Given the description of an element on the screen output the (x, y) to click on. 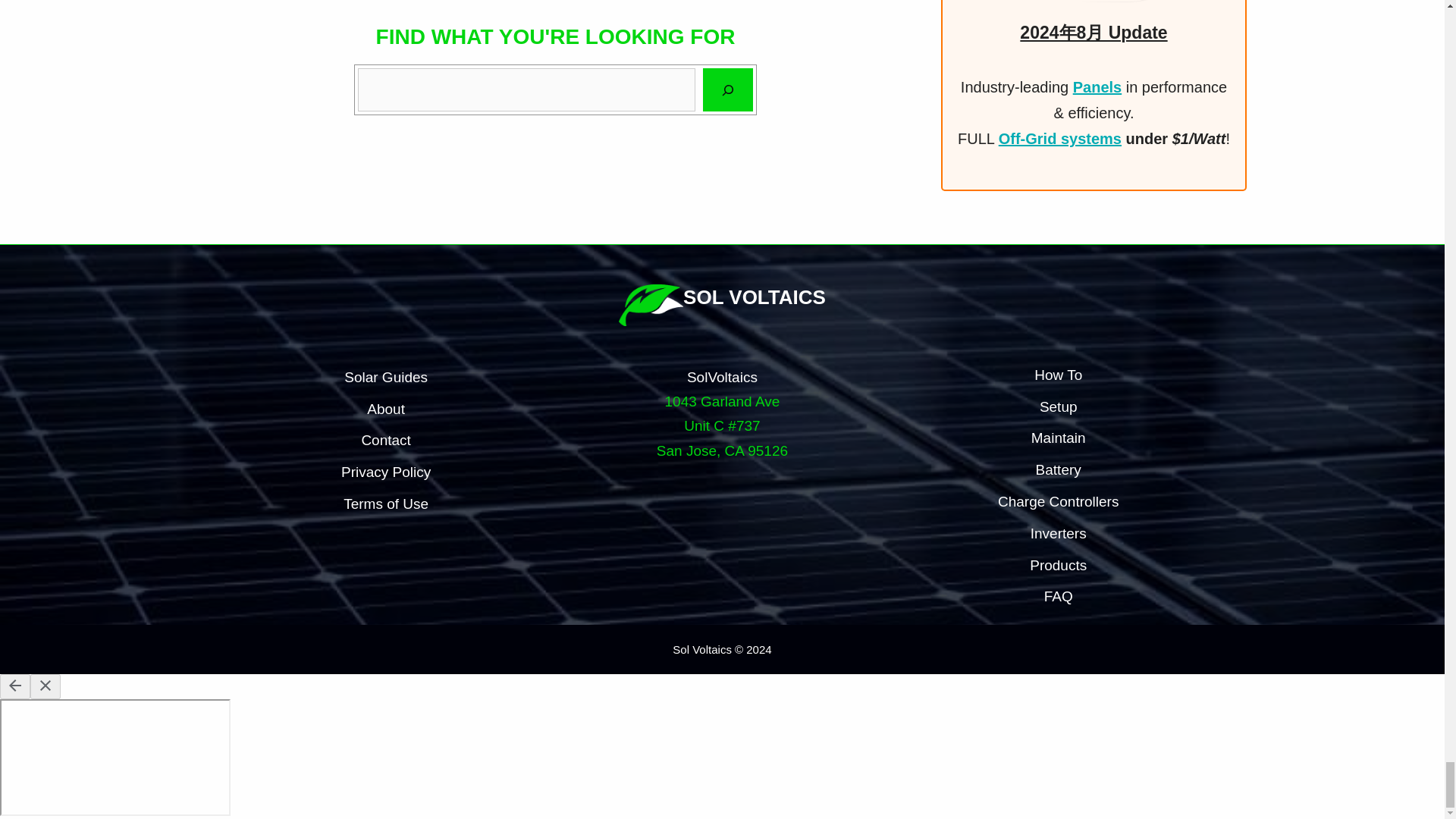
Terms of Use (385, 504)
Privacy Policy (385, 472)
Solar Guides (385, 377)
About (385, 409)
Contact (385, 440)
